Given the description of an element on the screen output the (x, y) to click on. 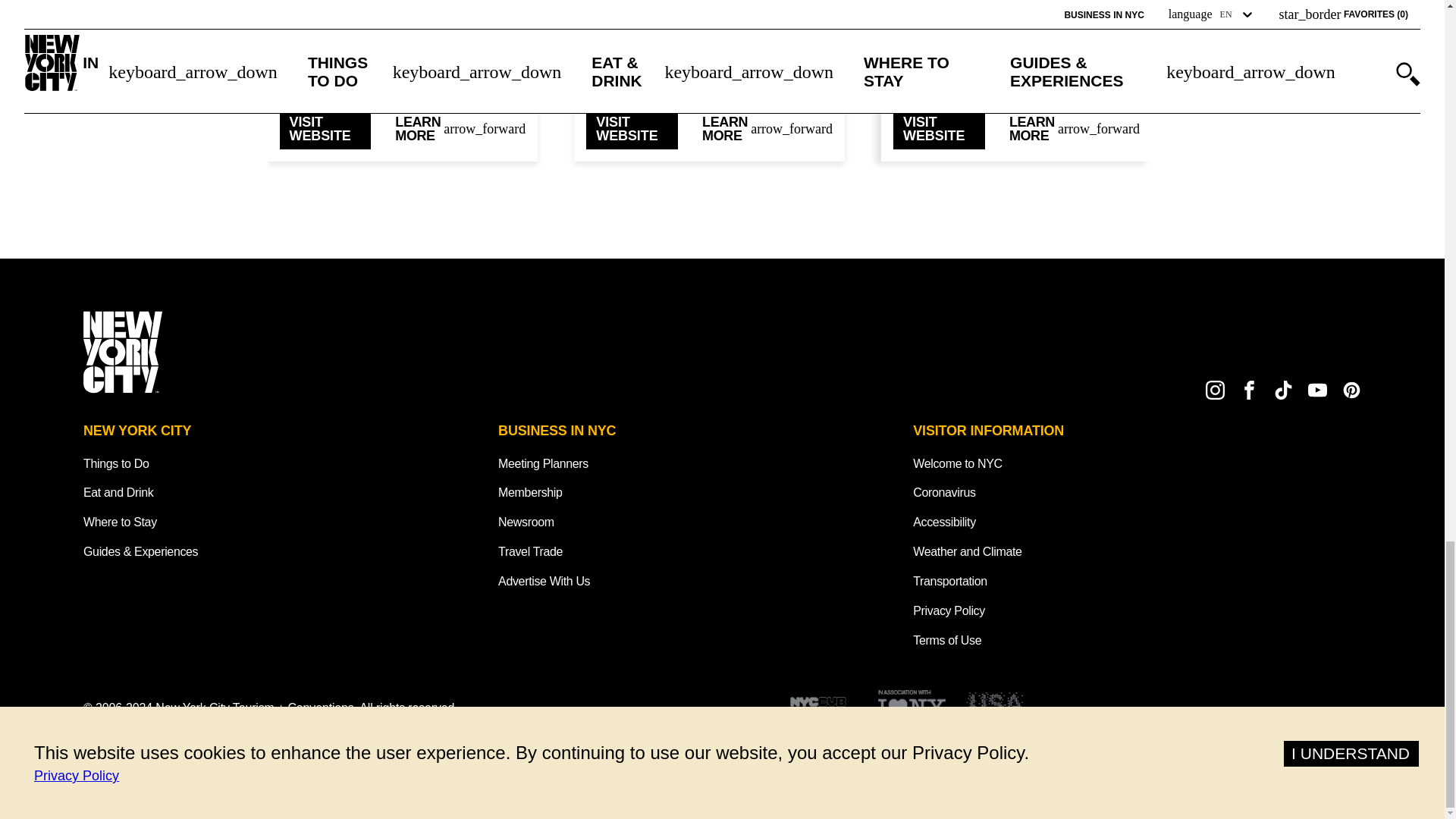
Coney Island (402, 7)
New York City Tourism and Conventions Facebook (1249, 389)
New York City Tourism and Conventions YouTube (1316, 389)
Queens Night Market (709, 7)
New York City Tourism and Conventions TikTok (1283, 389)
New York City Tourism and Conventions Pinterest (1351, 389)
VISIT WEBSITE (632, 128)
VISIT WEBSITE (325, 128)
New York City Tourism and Conventions Instagram (1214, 389)
